Given the description of an element on the screen output the (x, y) to click on. 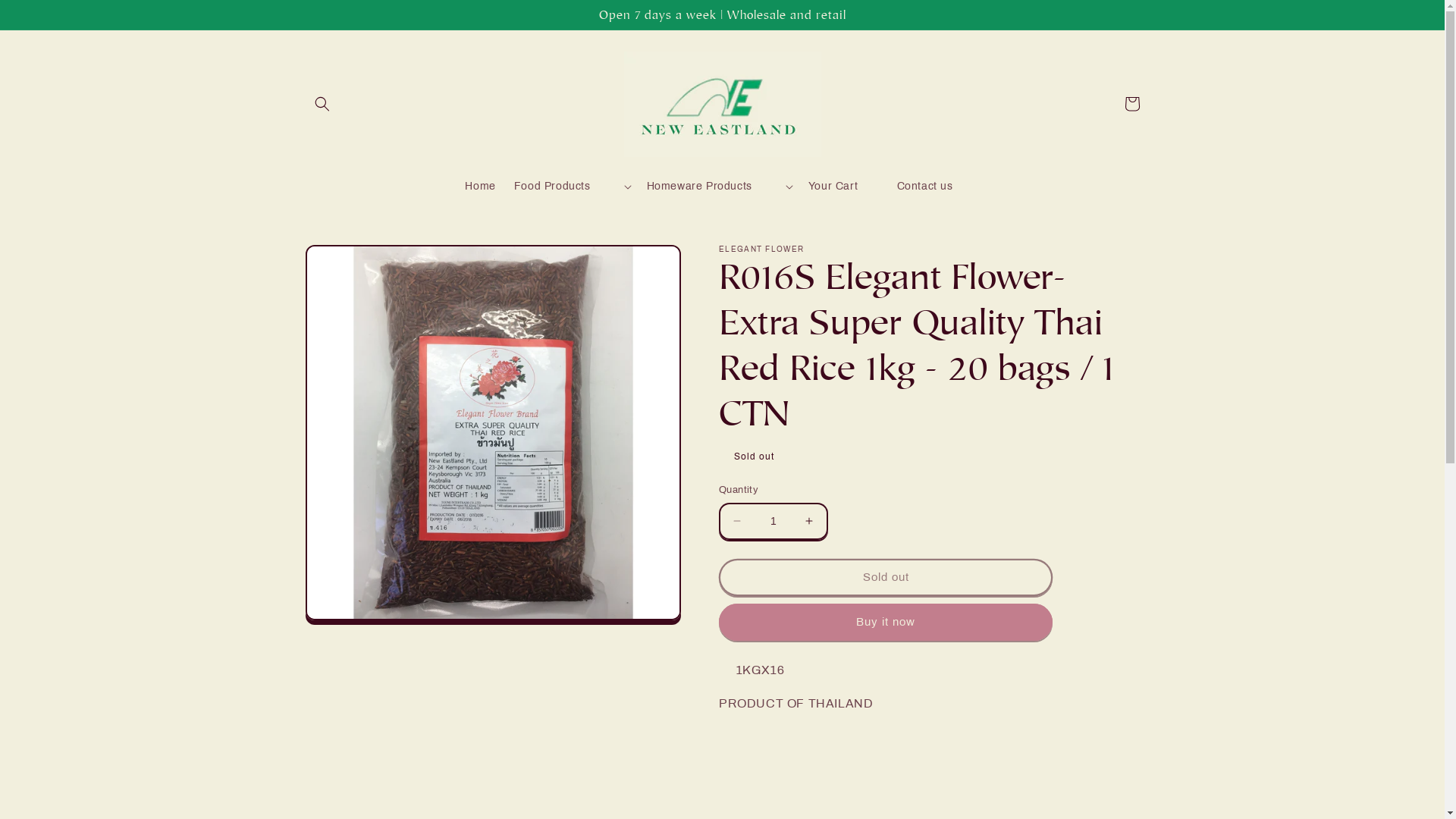
Home Element type: text (479, 186)
Sold out Element type: text (885, 577)
Skip to product information Element type: text (351, 262)
Cart Element type: text (1131, 103)
Buy it now Element type: text (885, 621)
